Given the description of an element on the screen output the (x, y) to click on. 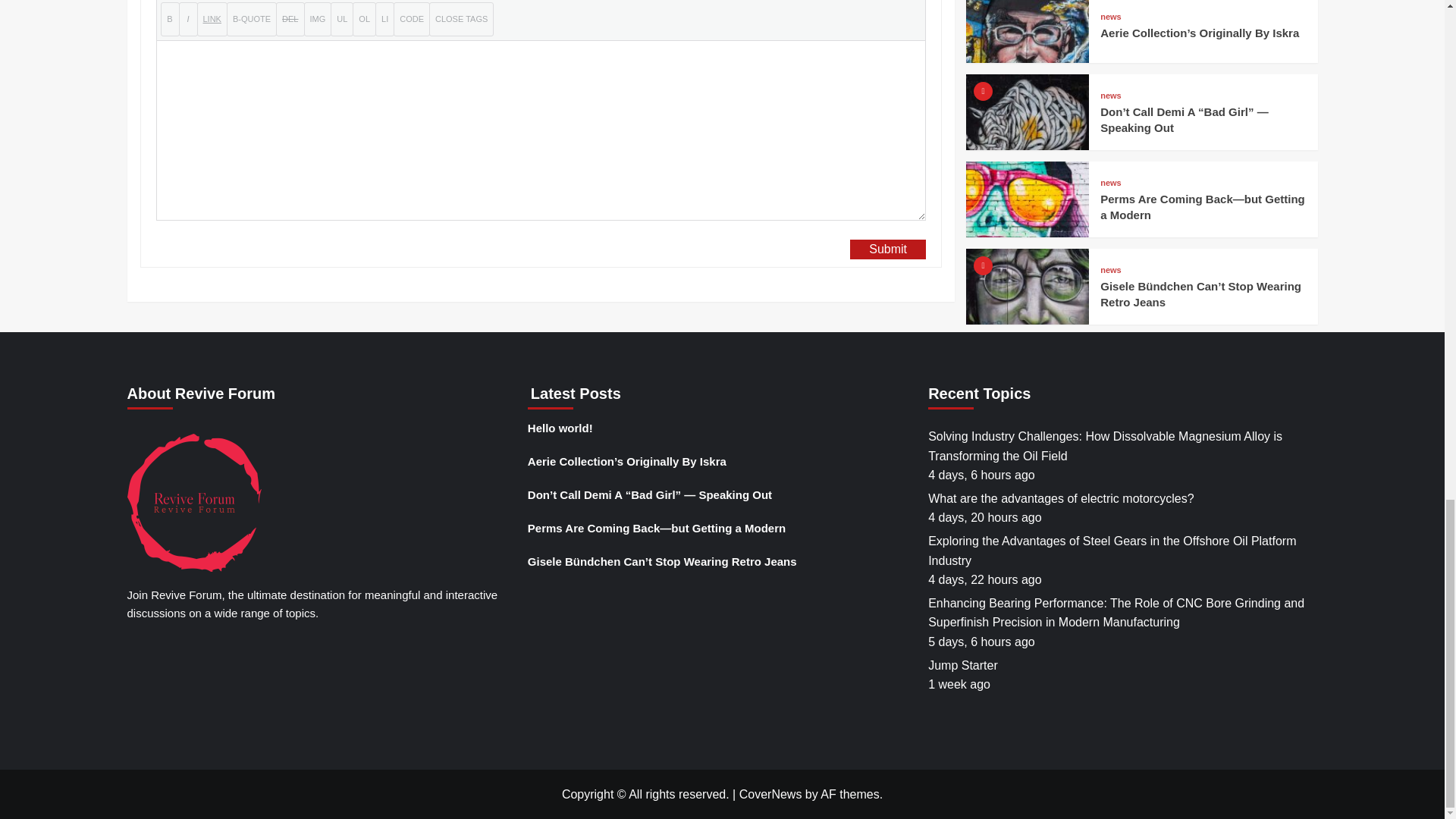
ul (341, 19)
Submit (888, 249)
img (316, 19)
del (290, 19)
b (169, 19)
b-quote (251, 19)
li (384, 19)
ol (363, 19)
code (411, 19)
i (188, 19)
link (211, 19)
close tags (461, 19)
Close all open tags (461, 19)
